Given the description of an element on the screen output the (x, y) to click on. 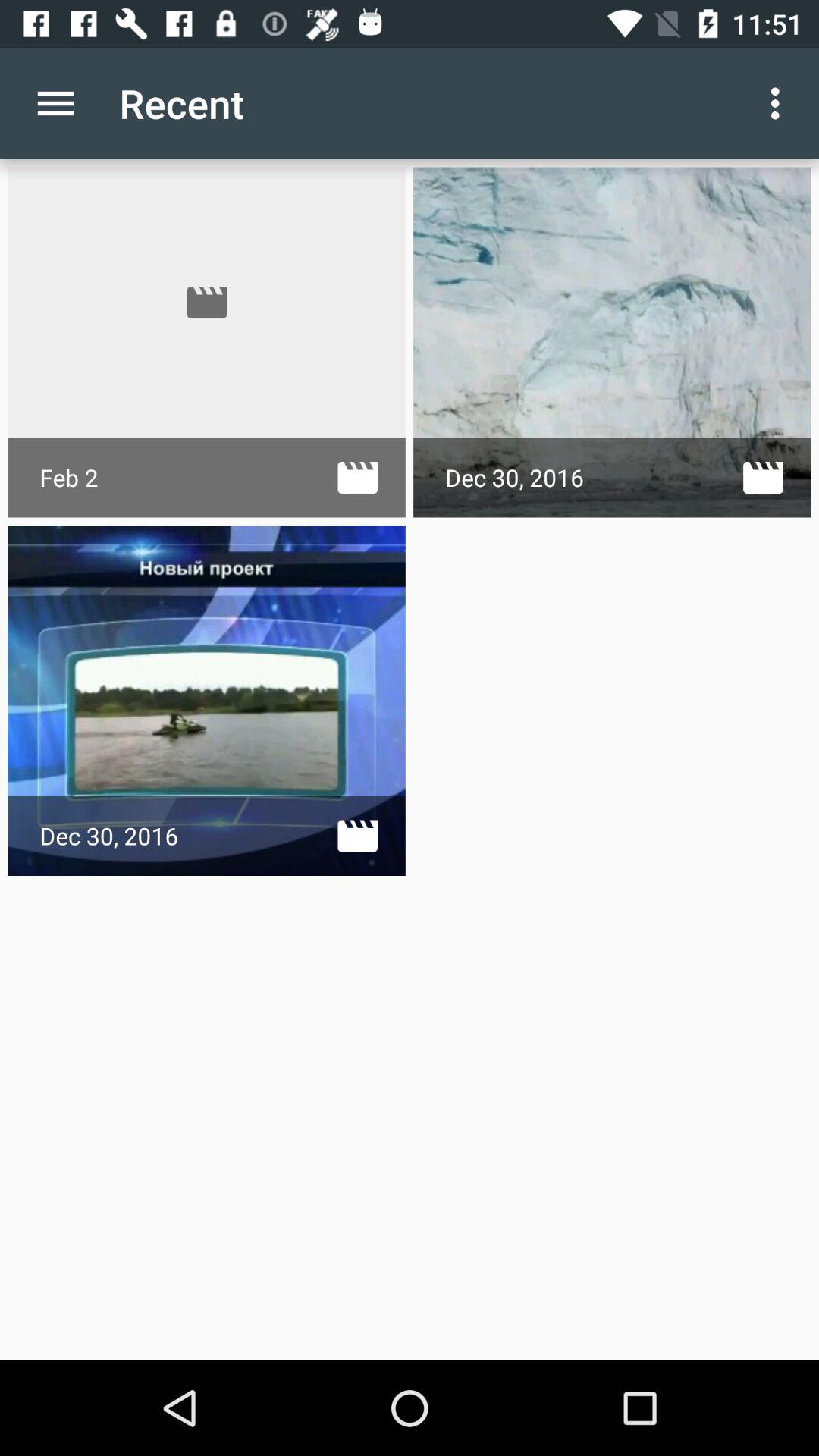
turn on the icon to the right of recent icon (779, 103)
